Given the description of an element on the screen output the (x, y) to click on. 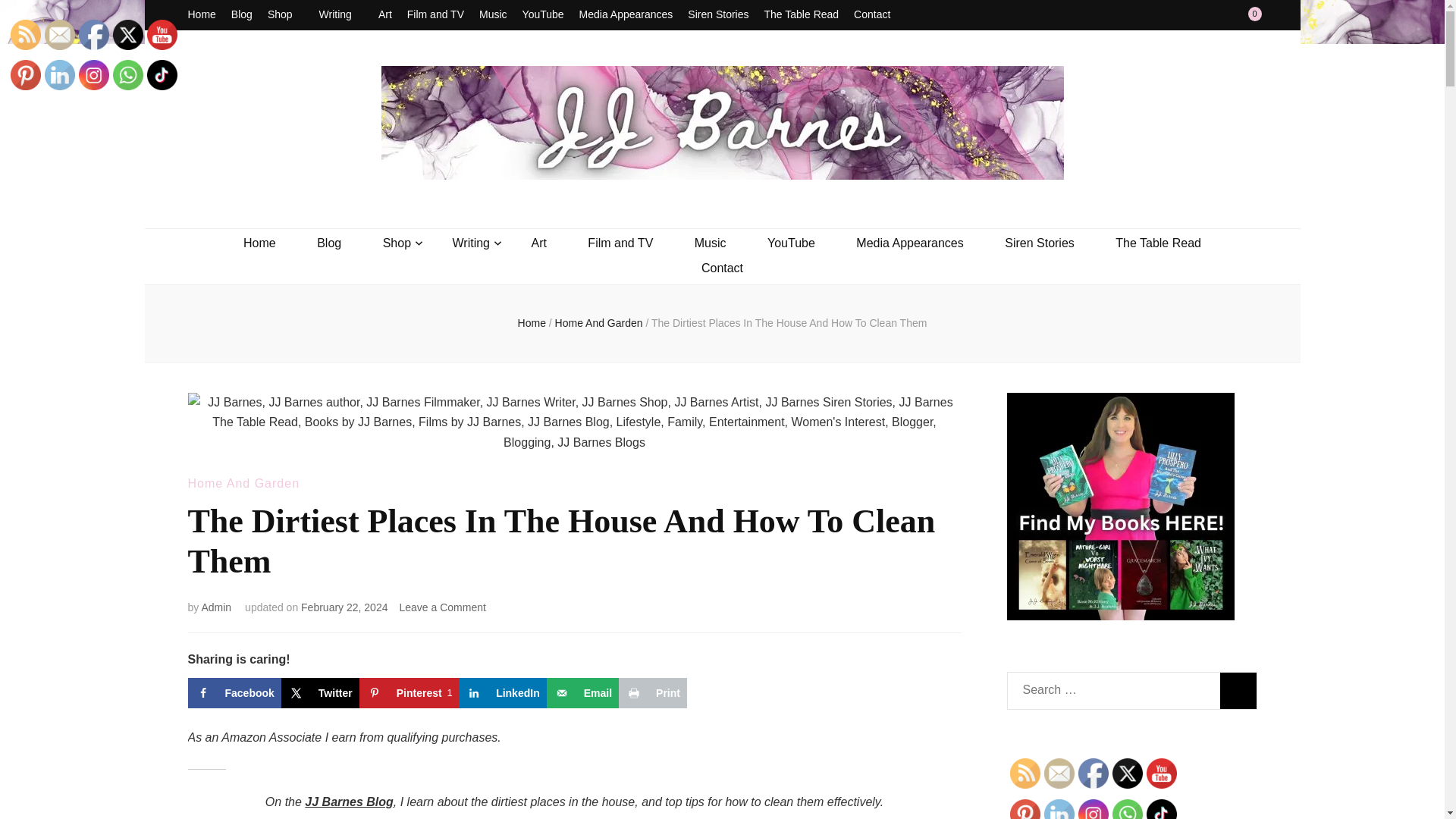
Home (201, 15)
Share on X (320, 693)
Facebook (1093, 773)
Send over email (582, 693)
RSS (1025, 773)
Print this webpage (652, 693)
Shop (285, 15)
Share on Facebook (234, 693)
Search (1237, 690)
Blog (241, 15)
Save to Pinterest (408, 693)
Search (1237, 690)
Follow by Email (1058, 773)
Share on LinkedIn (502, 693)
